Given the description of an element on the screen output the (x, y) to click on. 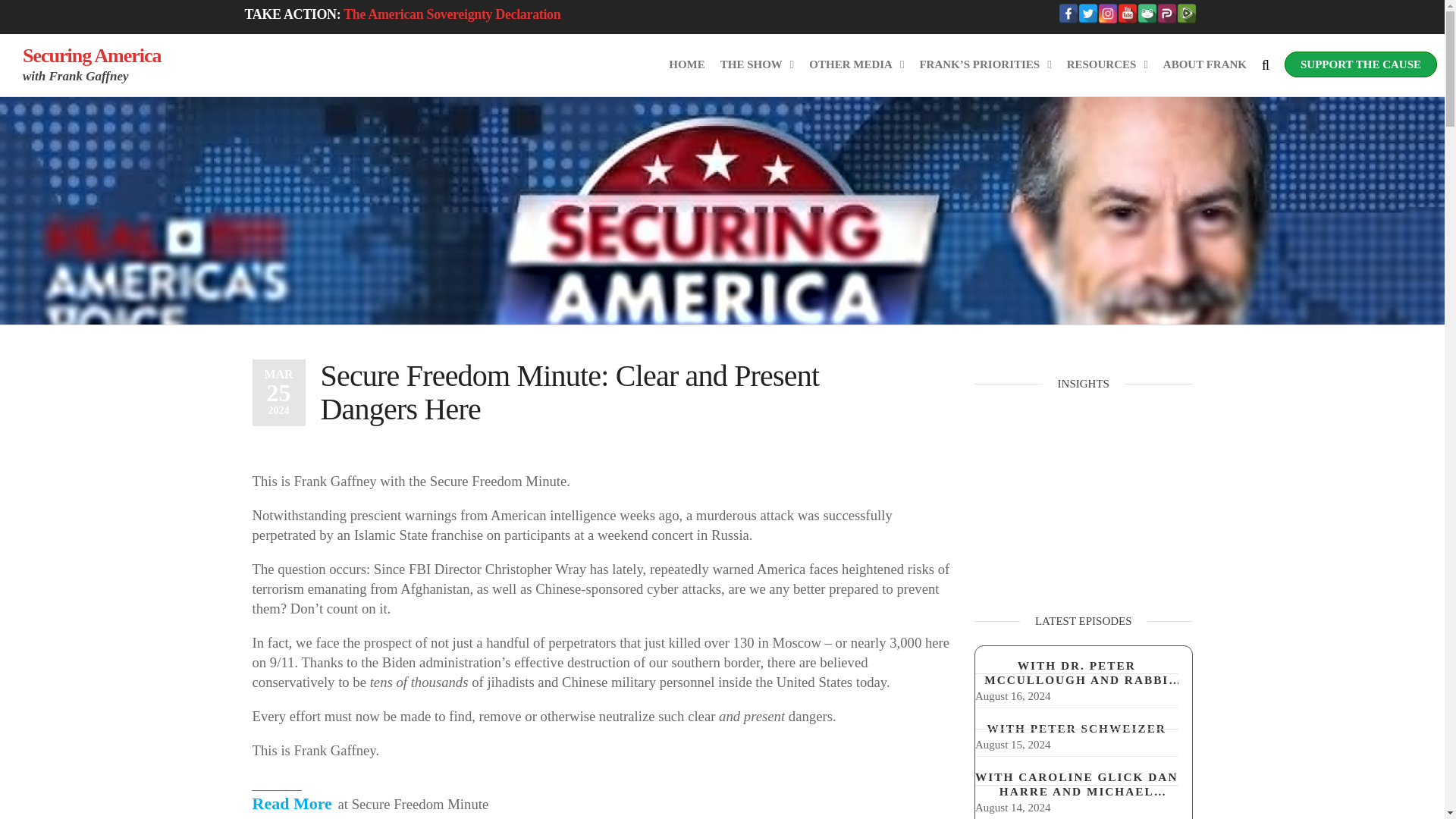
Securing America (92, 55)
Read More (292, 803)
Parler (1166, 13)
The American Sovereignty Declaration (451, 14)
Facebook (1068, 13)
SUPPORT THE CAUSE (1360, 63)
Rumble (1186, 13)
Other Media (856, 64)
Instagram (1107, 13)
YouTube (1127, 13)
